Given the description of an element on the screen output the (x, y) to click on. 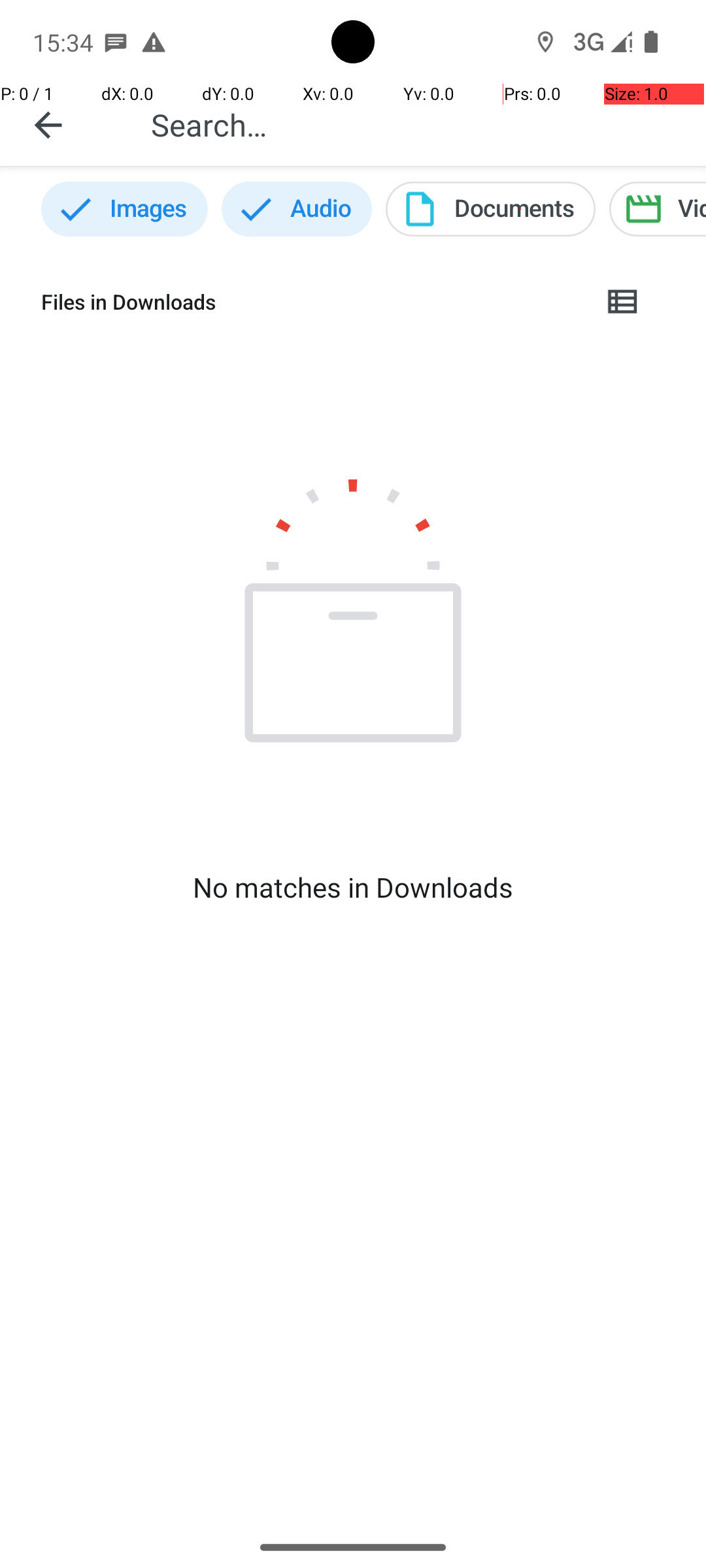
Files in Downloads Element type: android.widget.TextView (311, 301)
List view Element type: android.widget.TextView (622, 301)
Search… Element type: android.widget.AutoCompleteTextView (414, 124)
Images Element type: android.widget.CompoundButton (124, 208)
Audio Element type: android.widget.CompoundButton (296, 208)
Documents Element type: android.widget.CompoundButton (490, 208)
Videos Element type: android.widget.CompoundButton (657, 208)
No matches in Downloads Element type: android.widget.TextView (352, 886)
